Given the description of an element on the screen output the (x, y) to click on. 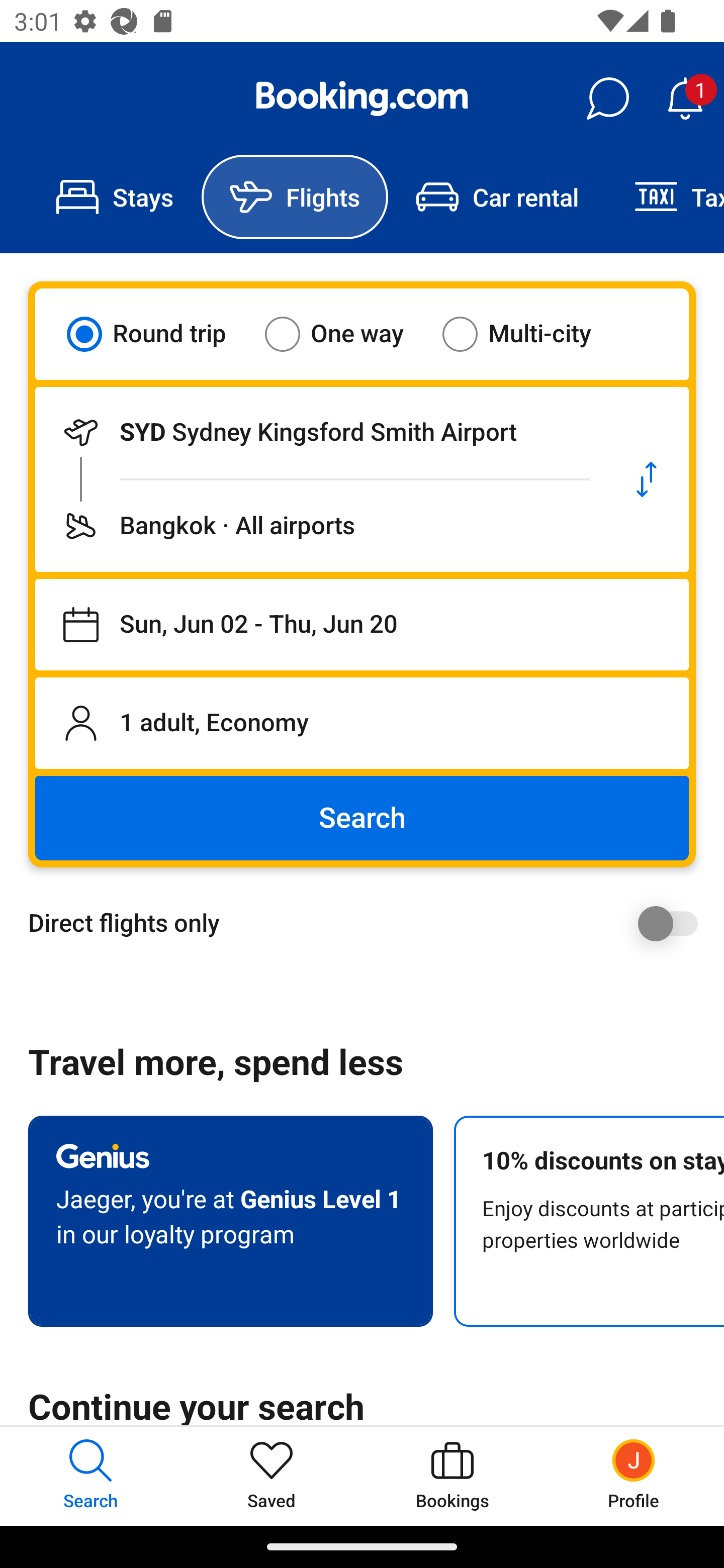
Messages (607, 98)
Notifications (685, 98)
Stays (114, 197)
Flights (294, 197)
Car rental (497, 197)
Taxi (665, 197)
One way (346, 333)
Multi-city (528, 333)
Departing from SYD Sydney Kingsford Smith Airport (319, 432)
Swap departure location and destination (646, 479)
Flying to Bangkok · All airports (319, 525)
Departing on Sun, Jun 02, returning on Thu, Jun 20 (361, 624)
1 adult, Economy (361, 722)
Search (361, 818)
Direct flights only (369, 923)
Saved (271, 1475)
Bookings (452, 1475)
Profile (633, 1475)
